Given the description of an element on the screen output the (x, y) to click on. 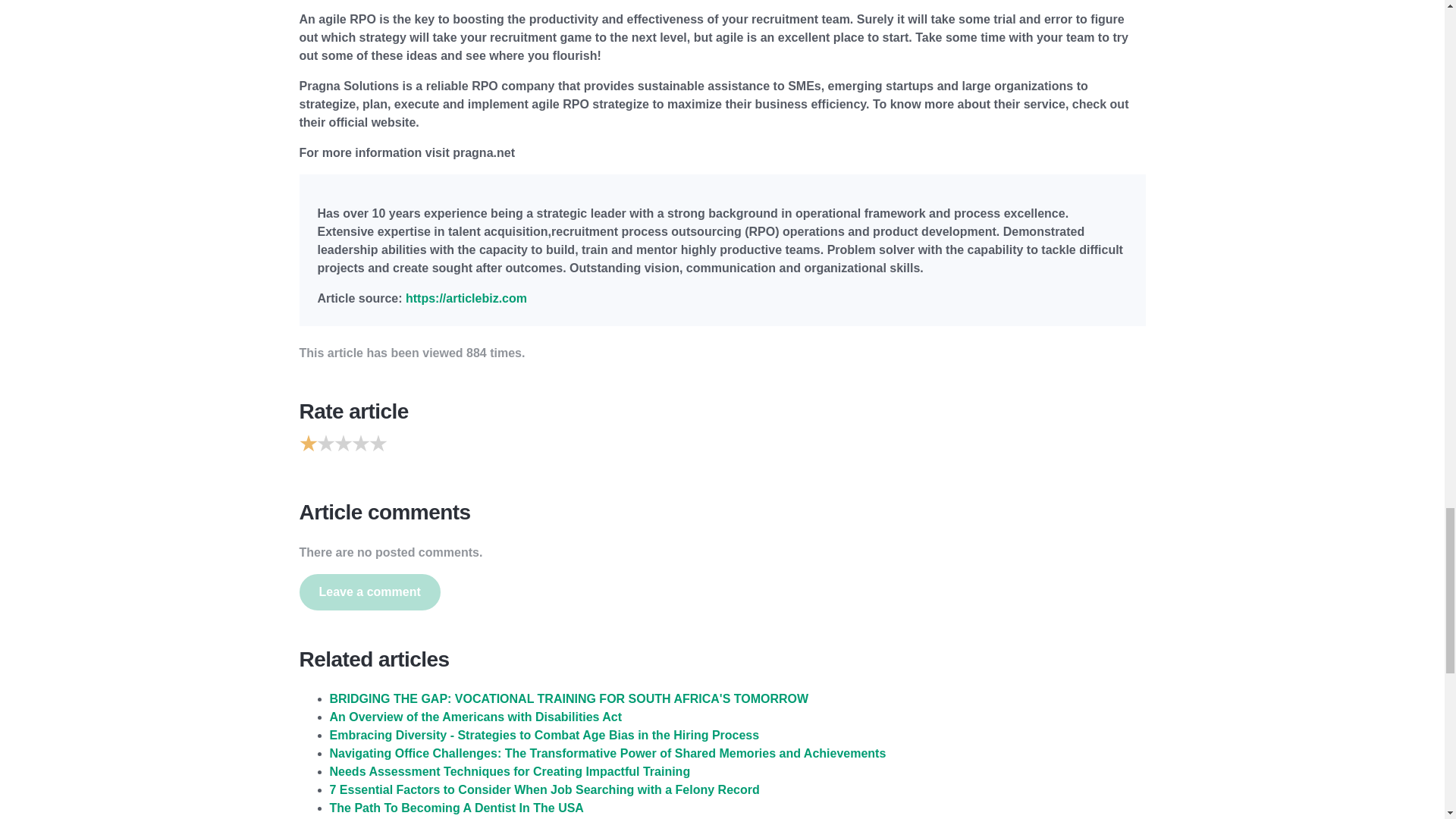
An Overview of the Americans with Disabilities Act (475, 716)
Needs Assessment Techniques for Creating Impactful Training (509, 771)
The Path To Becoming A Dentist In The USA (456, 807)
Leave a comment (368, 592)
